Given the description of an element on the screen output the (x, y) to click on. 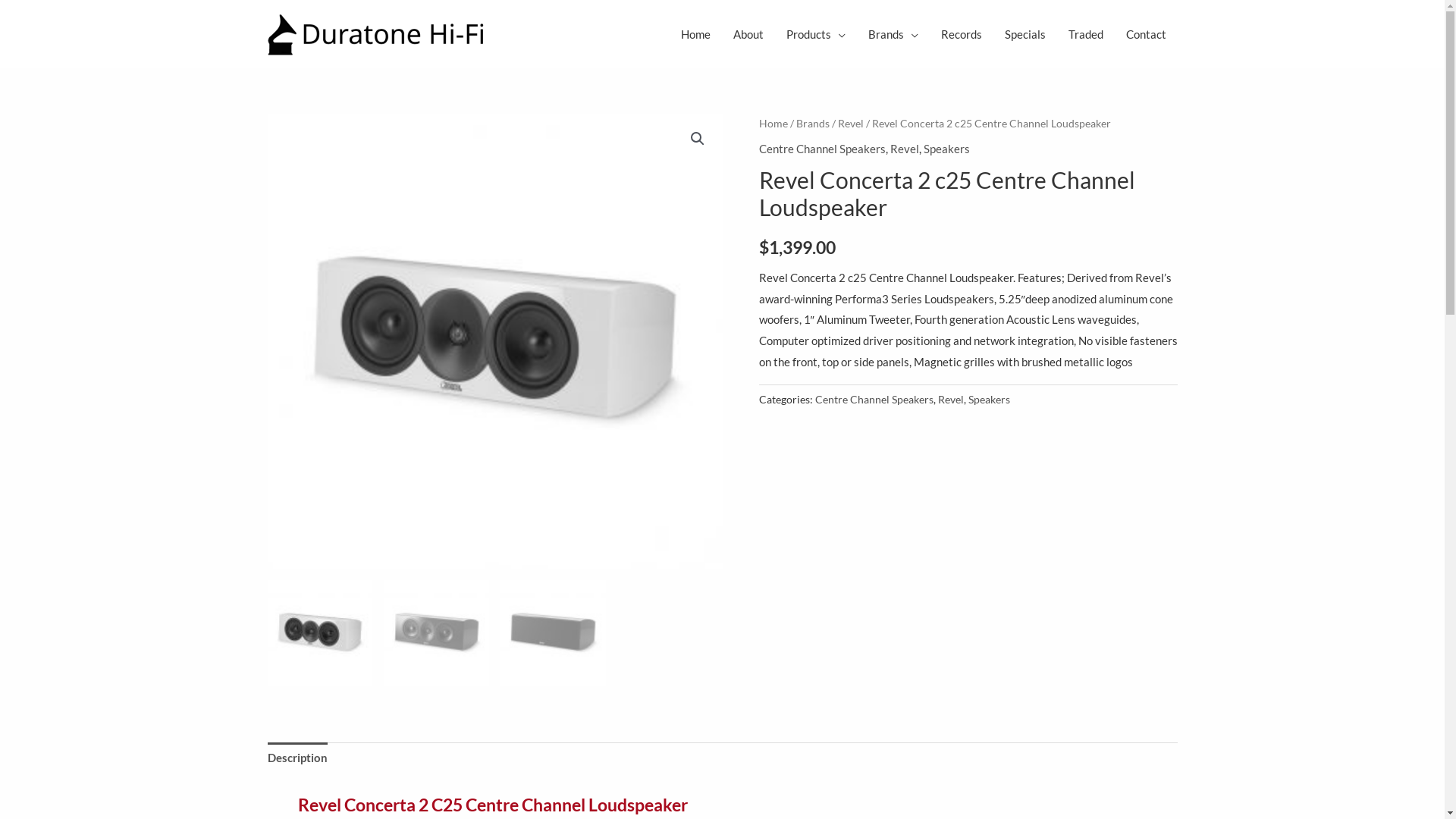
revel-concerta2-c25-white Element type: hover (493, 340)
Records Element type: text (961, 33)
Speakers Element type: text (946, 148)
Revel Element type: text (950, 399)
Speakers Element type: text (988, 399)
Specials Element type: text (1025, 33)
Home Element type: text (772, 122)
Products Element type: text (815, 33)
Brands Element type: text (892, 33)
Revel Element type: text (849, 122)
Contact Element type: text (1145, 33)
Home Element type: text (694, 33)
About Element type: text (748, 33)
Centre Channel Speakers Element type: text (821, 148)
Centre Channel Speakers Element type: text (873, 399)
Brands Element type: text (812, 122)
Traded Element type: text (1085, 33)
Description Element type: text (296, 758)
Revel Element type: text (904, 148)
